Given the description of an element on the screen output the (x, y) to click on. 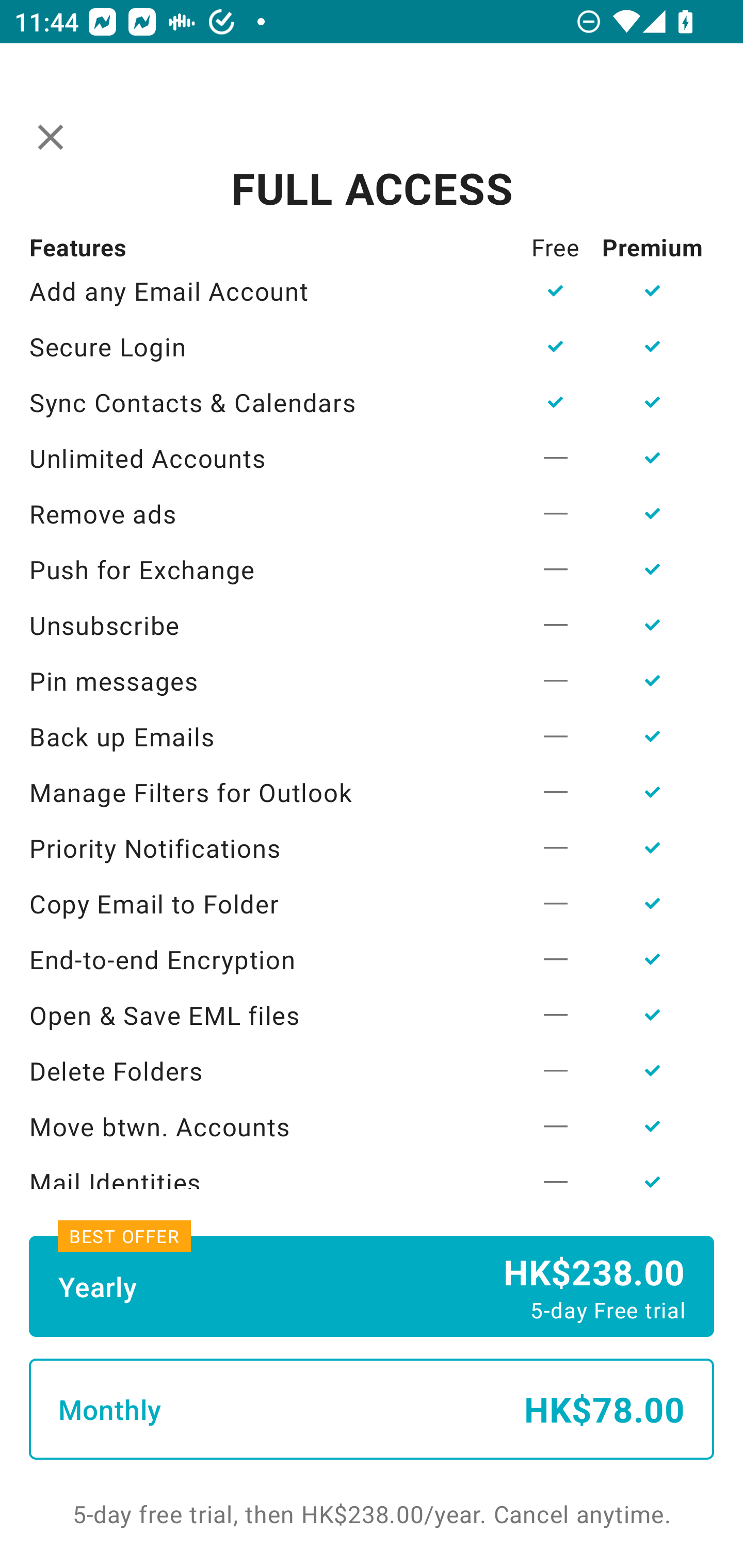
Yearly HK$238.00 5-day Free trial (371, 1286)
Monthly HK$78.00 (371, 1408)
